Given the description of an element on the screen output the (x, y) to click on. 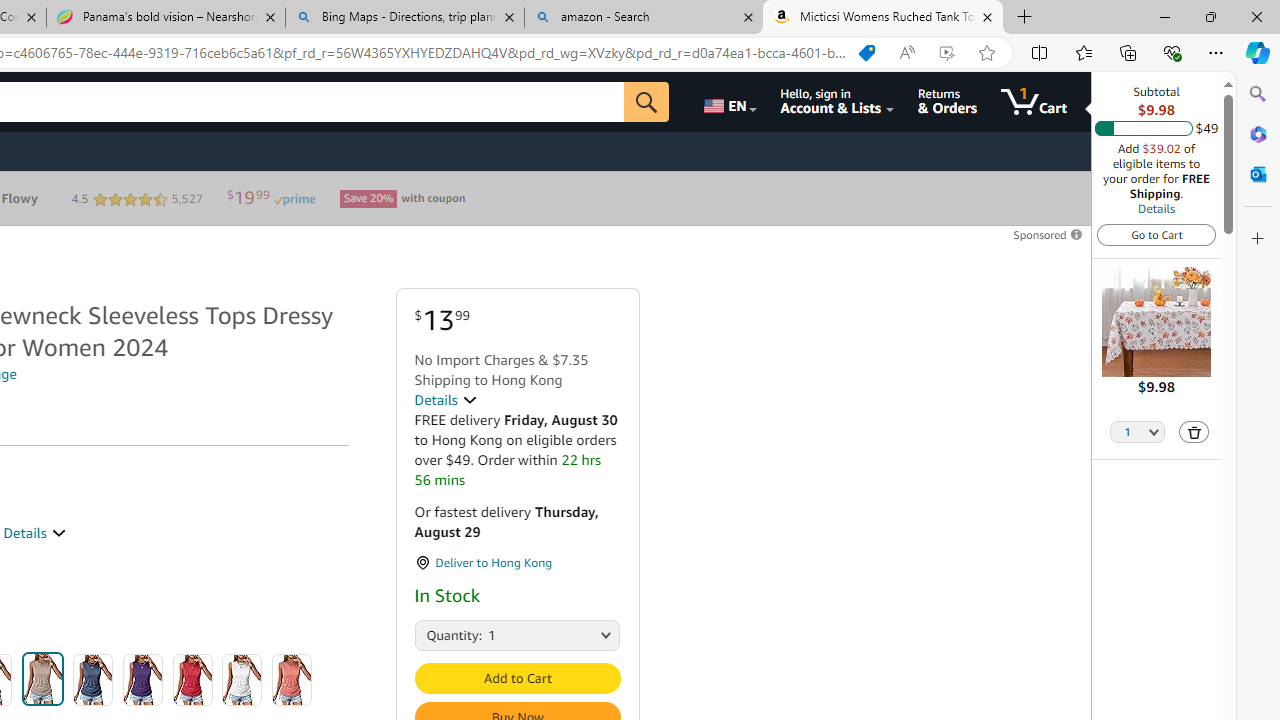
Shopping in Microsoft Edge (867, 53)
Purple (143, 679)
Delete (1193, 431)
Navy Blue (93, 679)
Purple (143, 679)
White (242, 679)
Hello, sign in Account & Lists (836, 101)
Navy Blue (93, 679)
Delete (1194, 431)
Pink (292, 679)
